Given the description of an element on the screen output the (x, y) to click on. 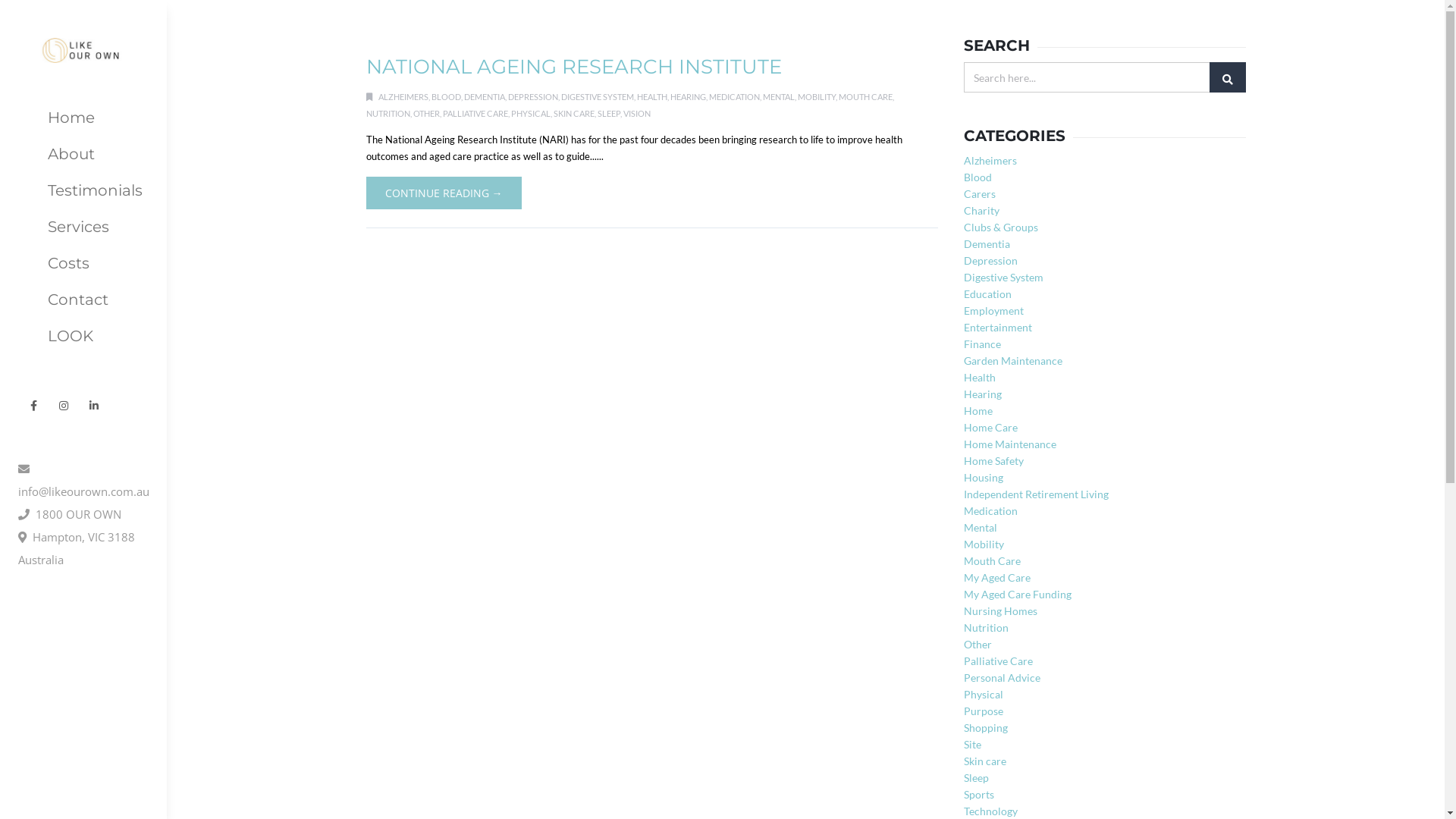
HEARING Element type: text (688, 95)
BLOOD Element type: text (445, 95)
Carers Element type: text (979, 193)
About Element type: text (83, 153)
Sports Element type: text (978, 793)
PHYSICAL Element type: text (530, 112)
Other Element type: text (977, 643)
Nursing Homes Element type: text (1000, 610)
Blood Element type: text (977, 176)
MENTAL Element type: text (778, 95)
Entertainment Element type: text (997, 326)
LOOK Element type: text (83, 335)
VISION Element type: text (636, 112)
Mental Element type: text (980, 526)
Clubs & Groups Element type: text (1000, 226)
MEDICATION Element type: text (733, 95)
Shopping Element type: text (985, 727)
PALLIATIVE CARE Element type: text (475, 112)
SLEEP Element type: text (608, 112)
NUTRITION Element type: text (387, 112)
Home Safety Element type: text (993, 460)
Medication Element type: text (990, 510)
DEPRESSION Element type: text (533, 95)
Palliative Care Element type: text (997, 660)
Skin care Element type: text (984, 760)
DEMENTIA Element type: text (484, 95)
ALZHEIMERS Element type: text (402, 95)
Depression Element type: text (990, 260)
SKIN CARE Element type: text (573, 112)
Housing Element type: text (983, 476)
Employment Element type: text (993, 310)
Personal Advice Element type: text (1001, 677)
Mobility Element type: text (983, 543)
NATIONAL AGEING RESEARCH INSTITUTE Element type: text (573, 66)
Digestive System Element type: text (1003, 276)
Dementia Element type: text (986, 243)
Charity Element type: text (981, 209)
Home Element type: text (977, 410)
Independent Retirement Living Element type: text (1035, 493)
Nutrition Element type: text (985, 627)
MOBILITY Element type: text (816, 95)
Sleep Element type: text (975, 777)
Site Element type: text (972, 743)
Home Maintenance Element type: text (1009, 443)
OTHER Element type: text (425, 112)
Purpose Element type: text (983, 710)
DIGESTIVE SYSTEM Element type: text (597, 95)
Home Element type: text (83, 117)
MOUTH CARE Element type: text (865, 95)
My Aged Care Element type: text (996, 577)
Mouth Care Element type: text (991, 560)
Like Our Own Element type: hover (83, 31)
Contact Element type: text (83, 299)
info@likeourown.com.au Element type: text (83, 479)
Finance Element type: text (982, 343)
Physical Element type: text (983, 693)
Alzheimers Element type: text (989, 159)
Home Care Element type: text (990, 426)
My Aged Care Funding Element type: text (1017, 593)
Garden Maintenance Element type: text (1012, 360)
Services Element type: text (83, 226)
Testimonials Element type: text (83, 190)
Technology Element type: text (990, 810)
HEALTH Element type: text (652, 95)
Hearing Element type: text (982, 393)
Education Element type: text (987, 293)
Costs Element type: text (83, 262)
Health Element type: text (979, 376)
